Given the description of an element on the screen output the (x, y) to click on. 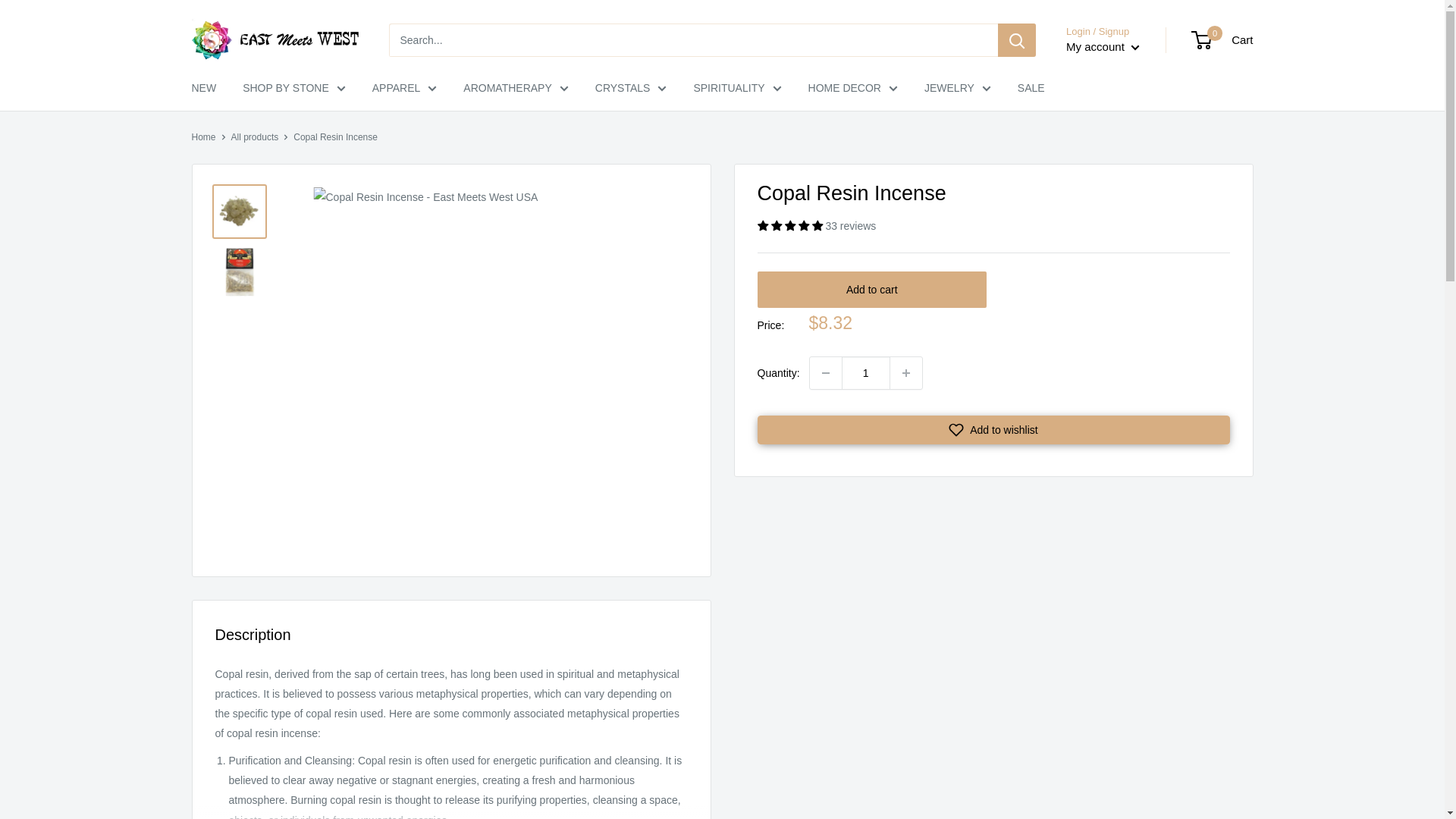
Decrease quantity by 1 (825, 373)
1 (865, 373)
Add to wishlist (992, 429)
Increase quantity by 1 (905, 373)
